Given the description of an element on the screen output the (x, y) to click on. 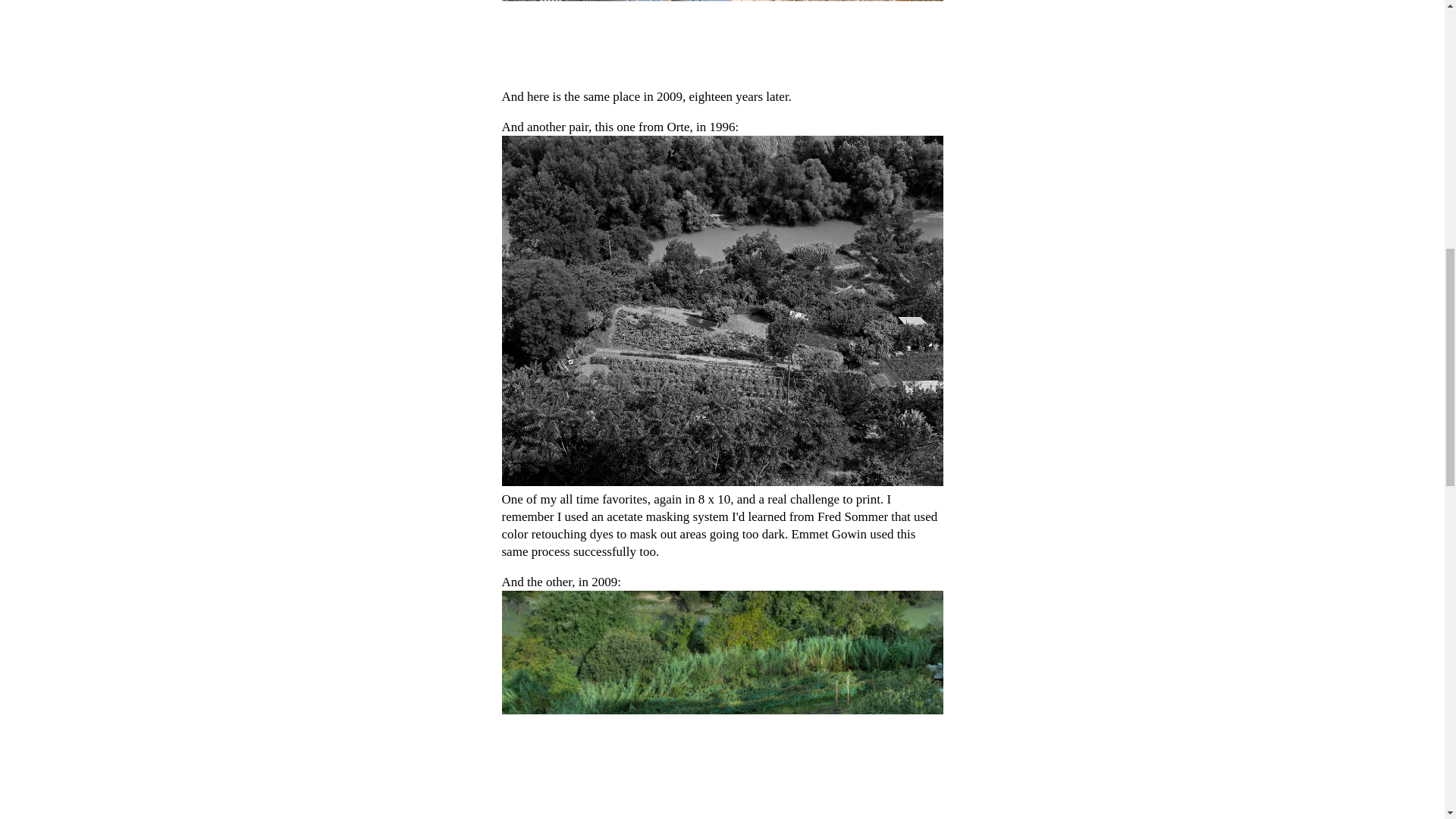
Click to enlarge (722, 41)
Click to enlarge (722, 704)
